Given the description of an element on the screen output the (x, y) to click on. 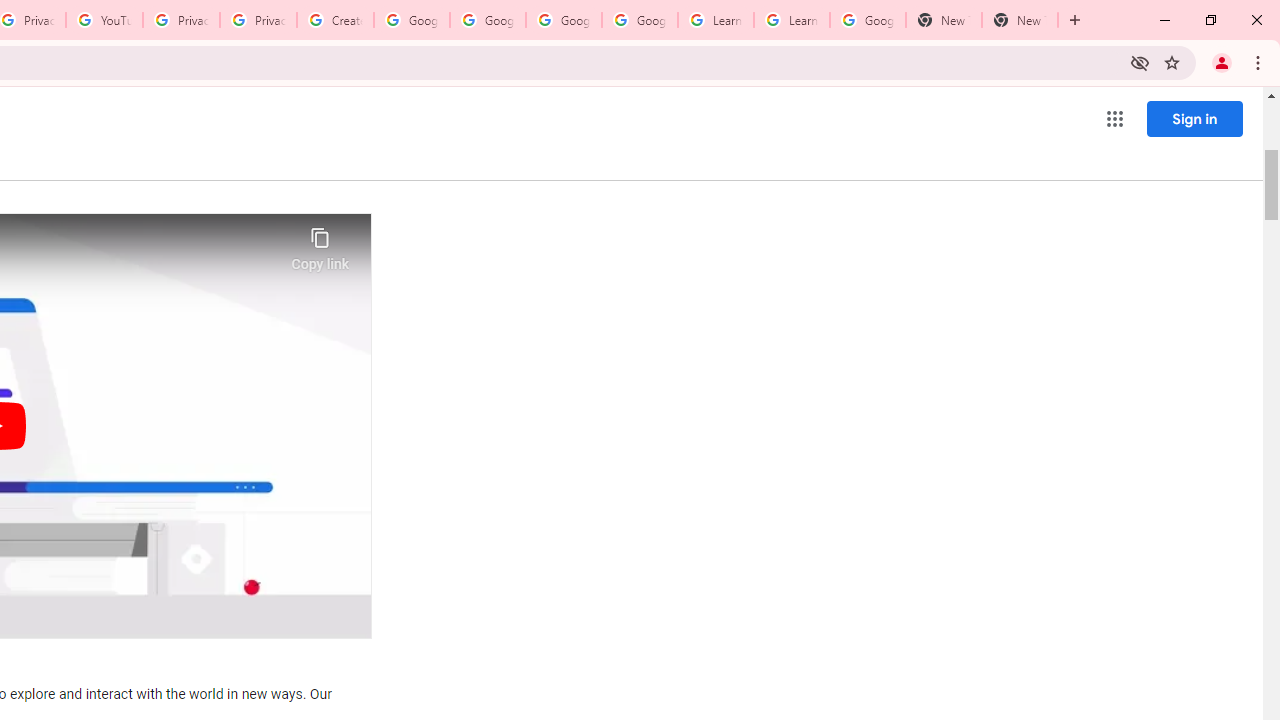
New Tab (943, 20)
Copy link (319, 244)
Google Account Help (639, 20)
Google Account Help (563, 20)
